Given the description of an element on the screen output the (x, y) to click on. 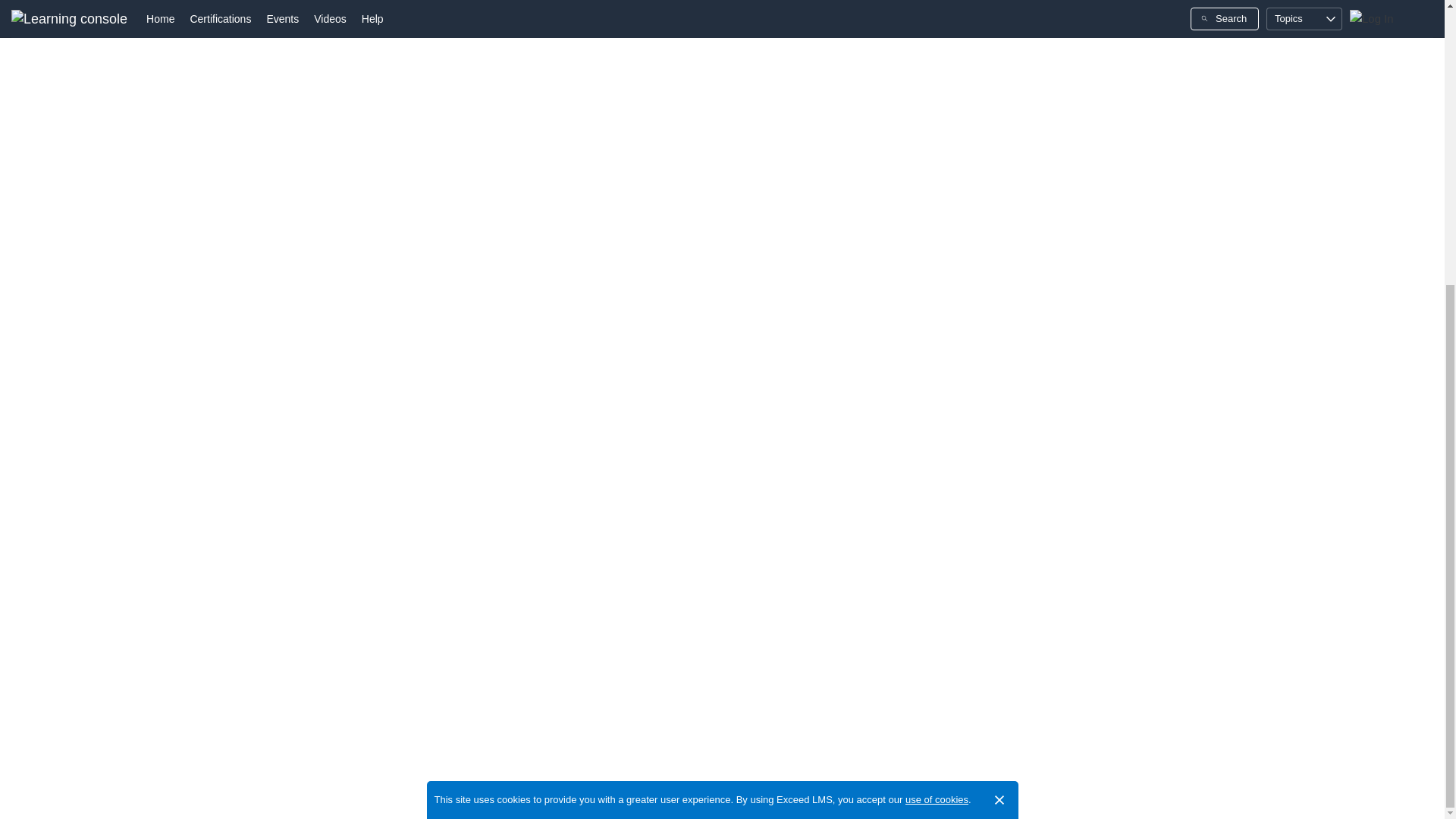
use of cookies (936, 369)
